Given the description of an element on the screen output the (x, y) to click on. 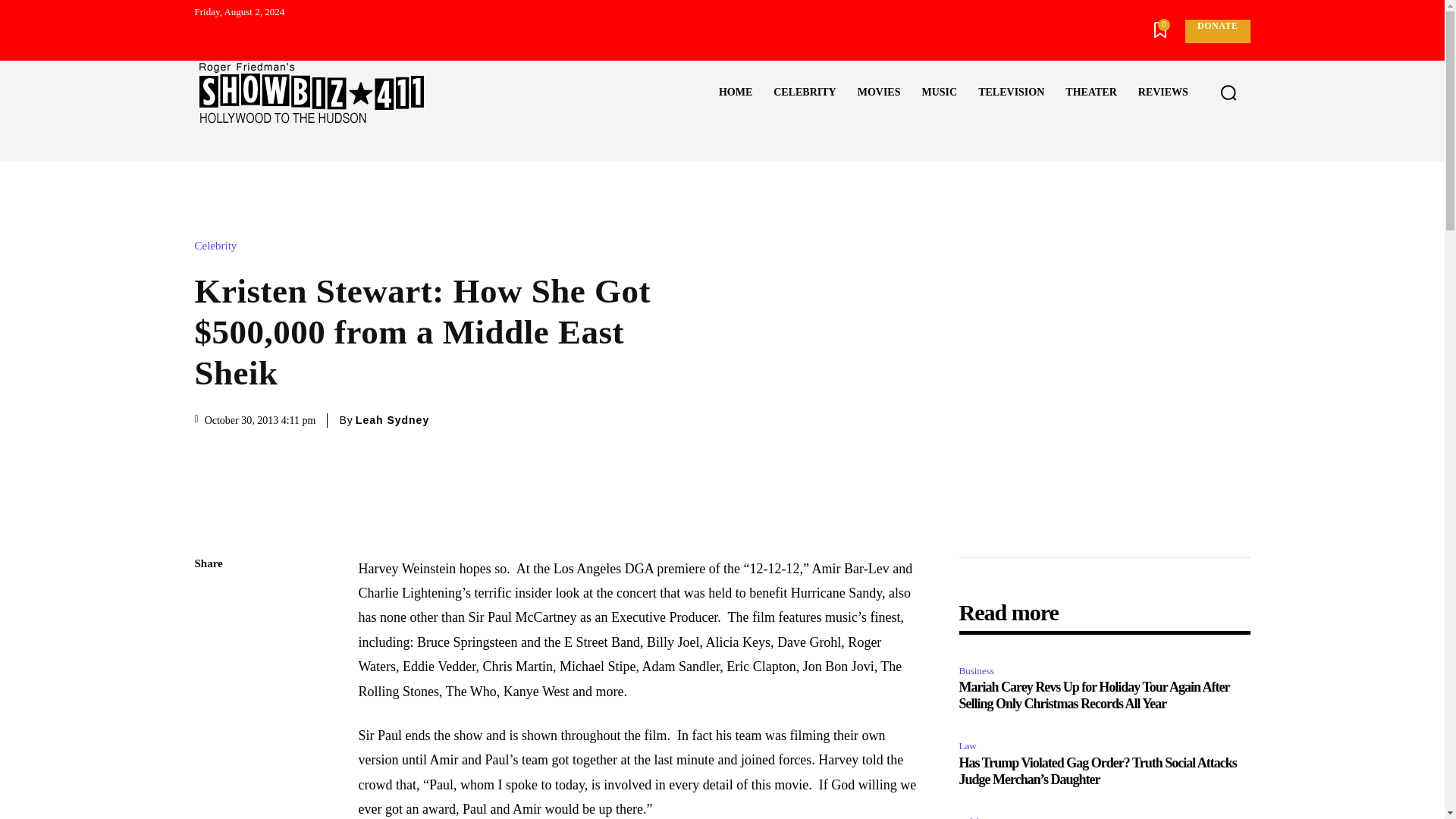
Donate (1217, 31)
THEATER (1090, 92)
DONATE (1217, 31)
TELEVISION (1011, 92)
MUSIC (939, 92)
CELEBRITY (803, 92)
REVIEWS (1162, 92)
MOVIES (879, 92)
Celebrity (218, 245)
HOME (734, 92)
